Given the description of an element on the screen output the (x, y) to click on. 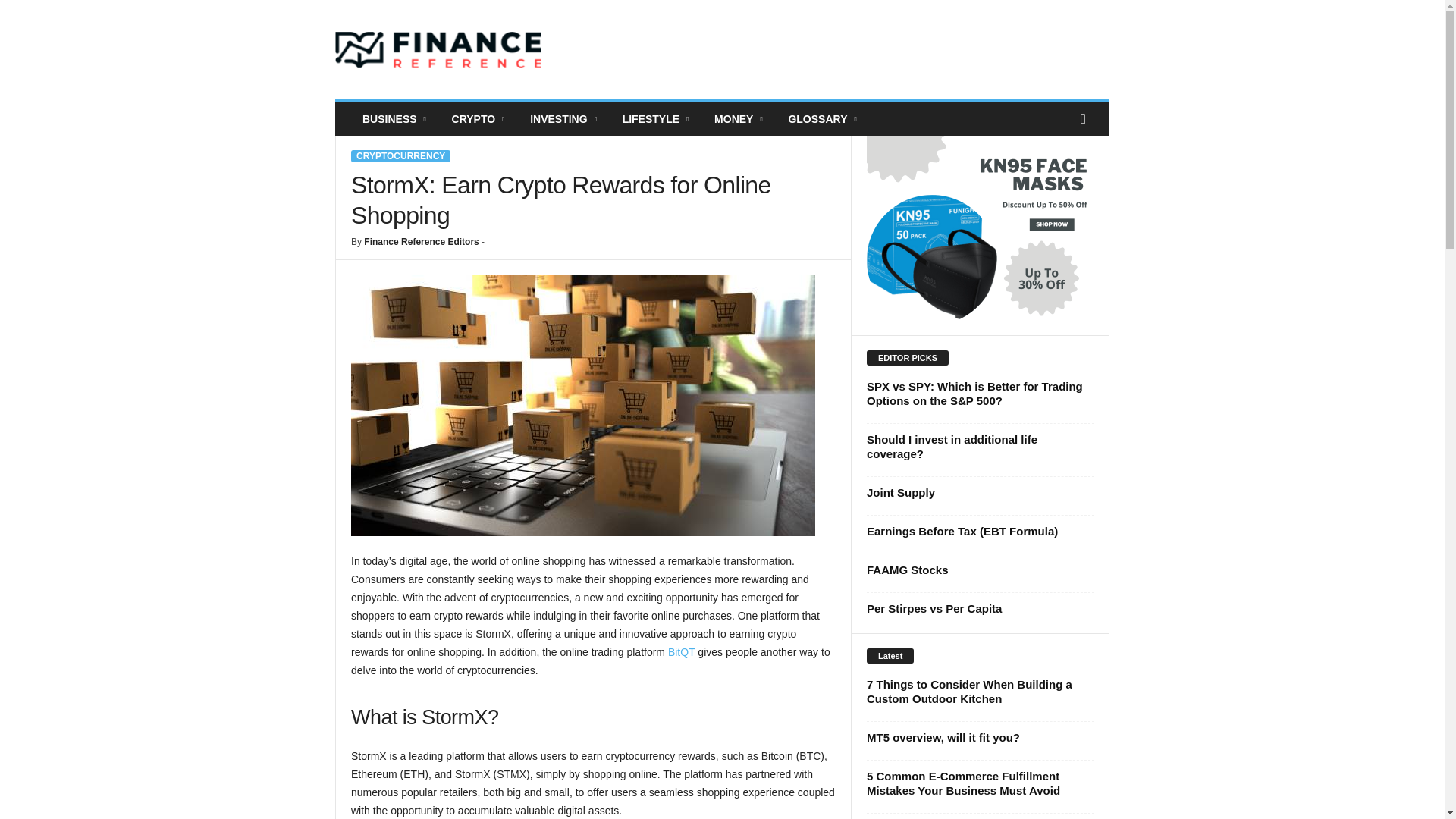
BUSINESS (395, 118)
Finance Reference (437, 49)
CRYPTO (480, 118)
